Given the description of an element on the screen output the (x, y) to click on. 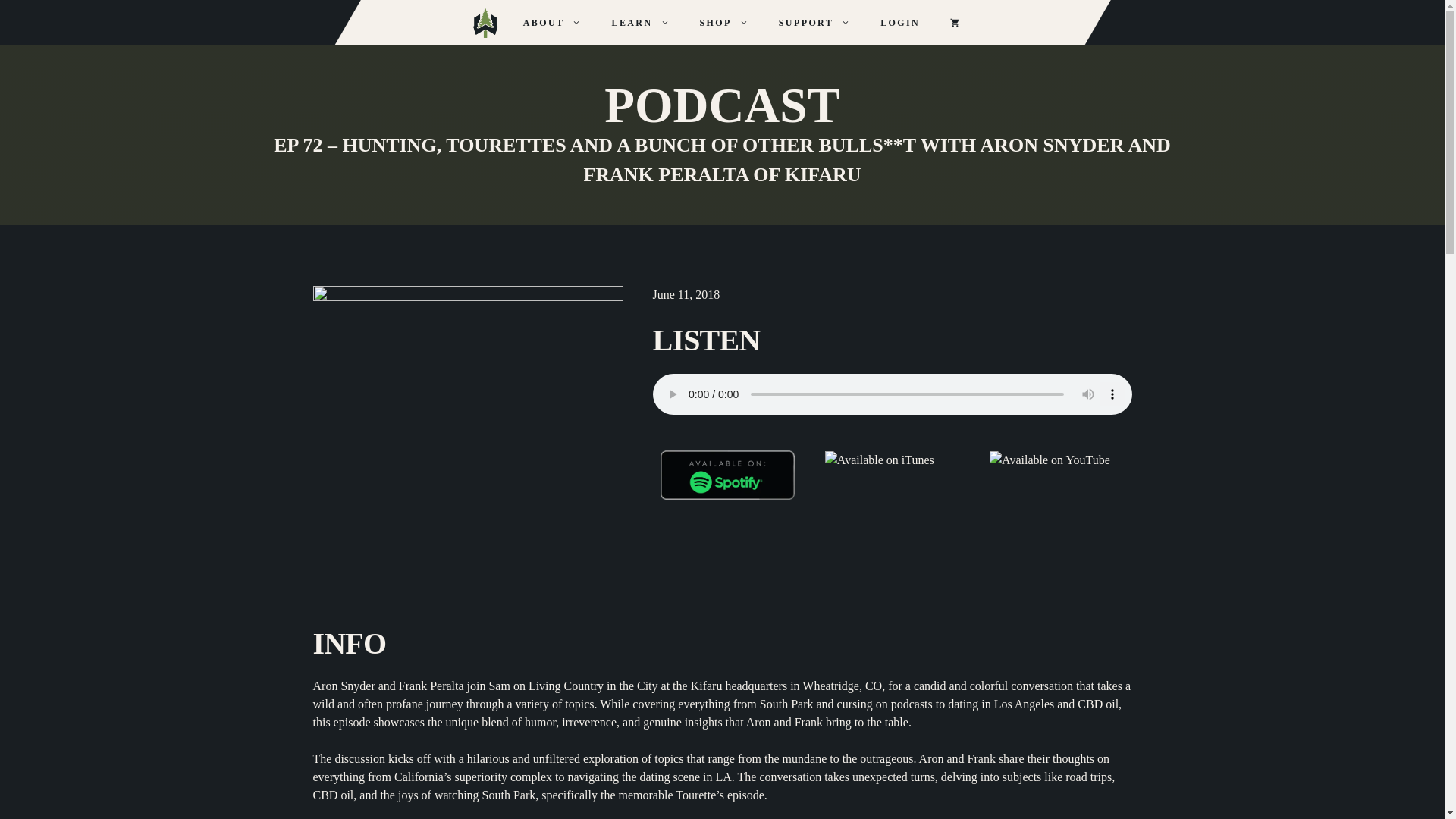
ABOUT (552, 22)
SHOP (723, 22)
SUPPORT (813, 22)
LEARN (639, 22)
